Given the description of an element on the screen output the (x, y) to click on. 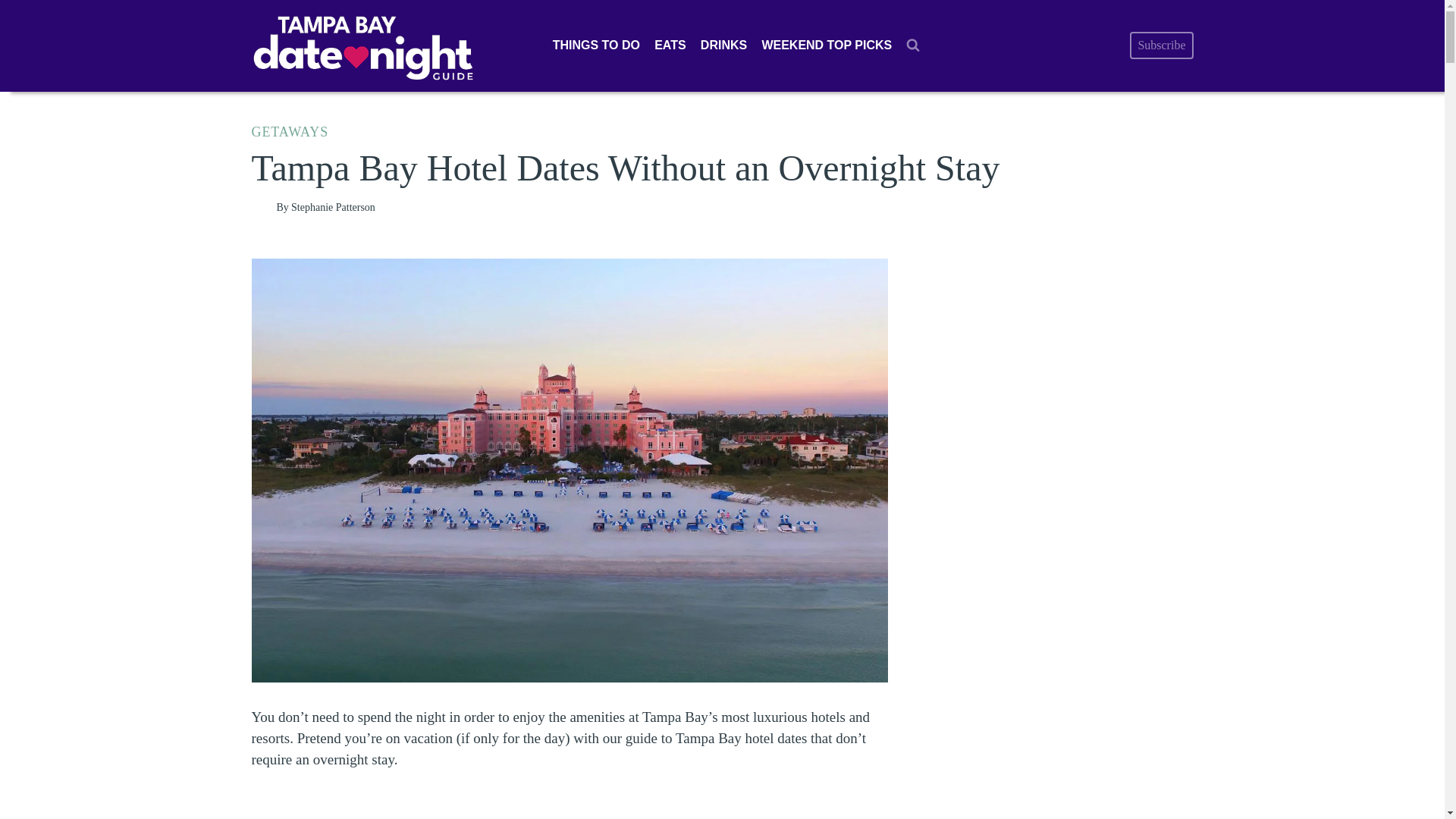
THINGS TO DO (595, 45)
WEEKEND TOP PICKS (826, 45)
Stephanie Patterson (333, 206)
DRINKS (723, 45)
GETAWAYS (290, 131)
Subscribe (1160, 44)
EATS (670, 45)
